Given the description of an element on the screen output the (x, y) to click on. 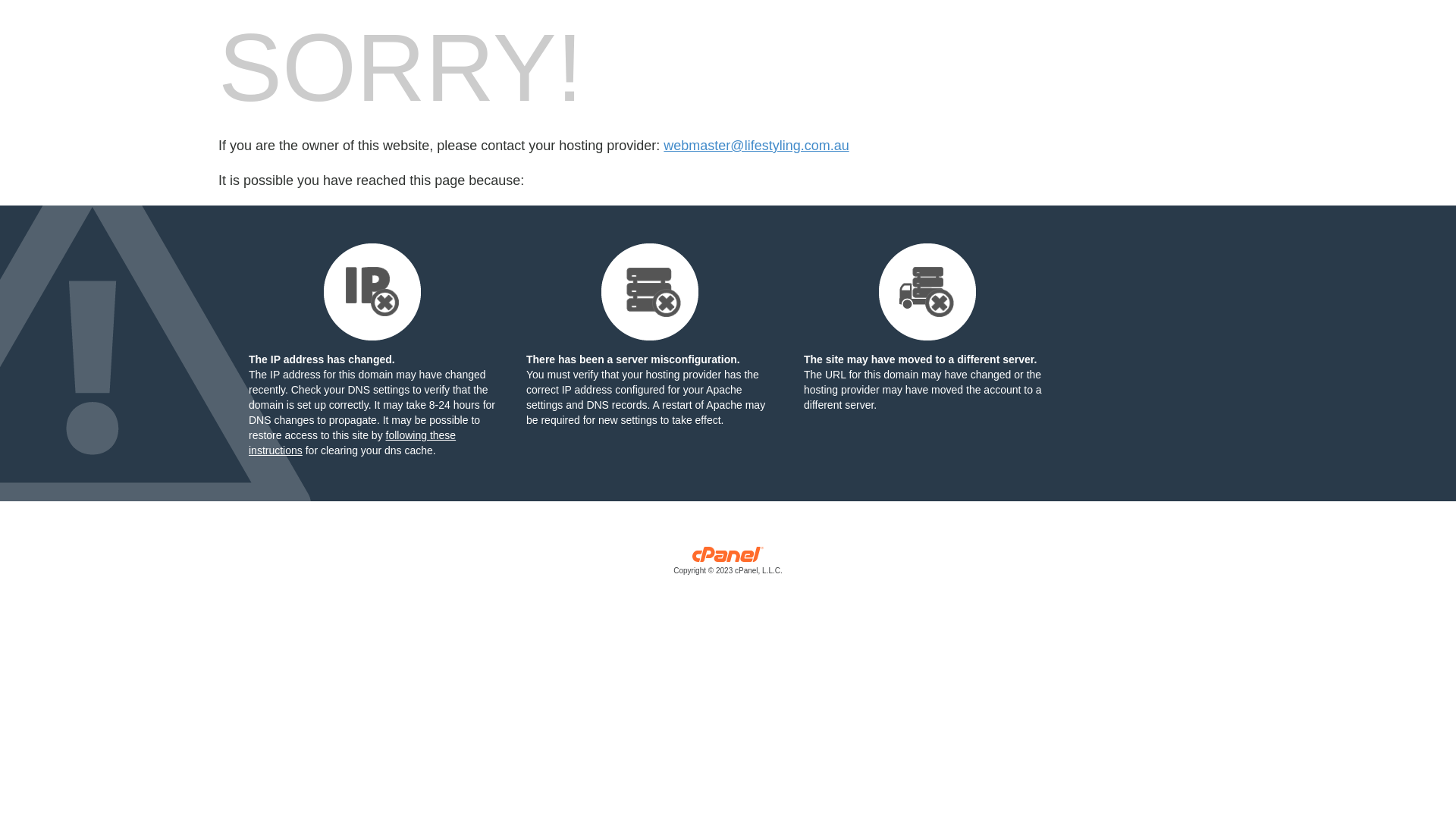
following these instructions Element type: text (351, 442)
webmaster@lifestyling.com.au Element type: text (755, 145)
